Given the description of an element on the screen output the (x, y) to click on. 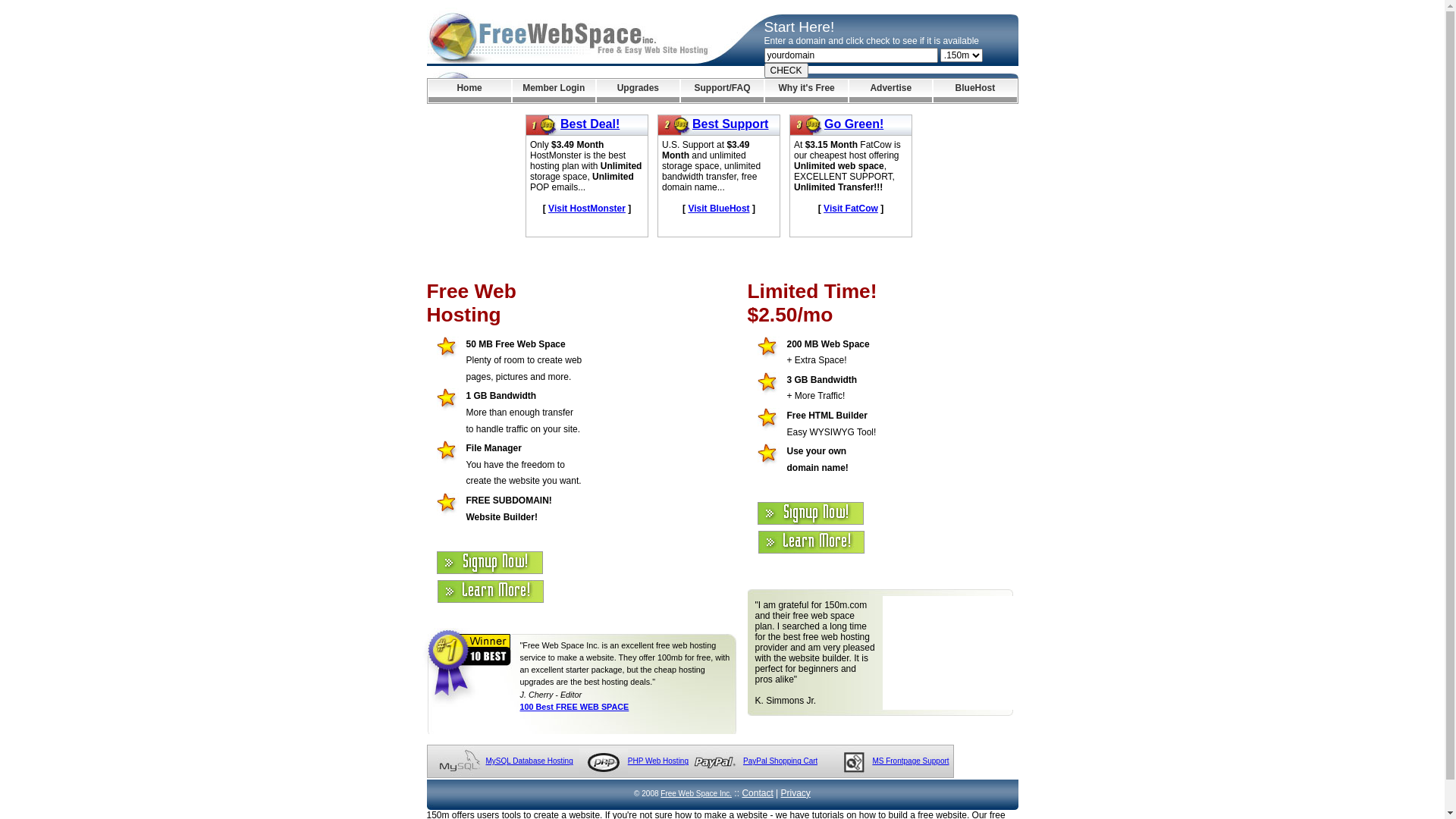
CHECK Element type: text (786, 70)
Home Element type: text (468, 90)
Contact Element type: text (756, 792)
Support/FAQ Element type: text (721, 90)
MS Frontpage Support Element type: text (910, 760)
Privacy Element type: text (795, 792)
Upgrades Element type: text (637, 90)
Member Login Element type: text (553, 90)
100 Best FREE WEB SPACE Element type: text (574, 706)
PHP Web Hosting Element type: text (657, 760)
Why it's Free Element type: text (806, 90)
Free Web Space Inc. Element type: text (695, 793)
Advertise Element type: text (890, 90)
PayPal Shopping Cart Element type: text (780, 760)
BlueHost Element type: text (974, 90)
MySQL Database Hosting Element type: text (528, 760)
